Given the description of an element on the screen output the (x, y) to click on. 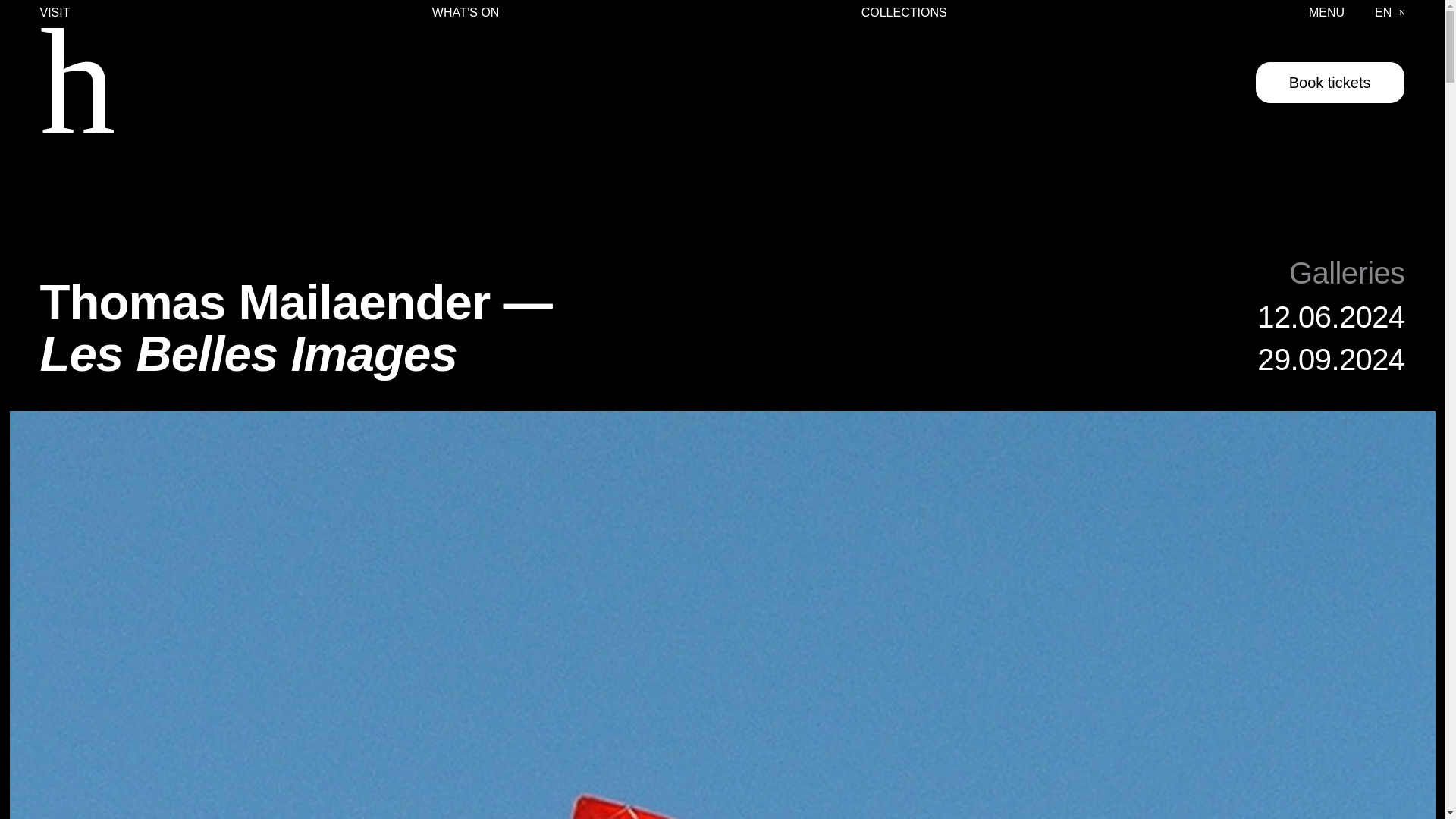
Open the menu (1325, 13)
VISIT (54, 13)
